Given the description of an element on the screen output the (x, y) to click on. 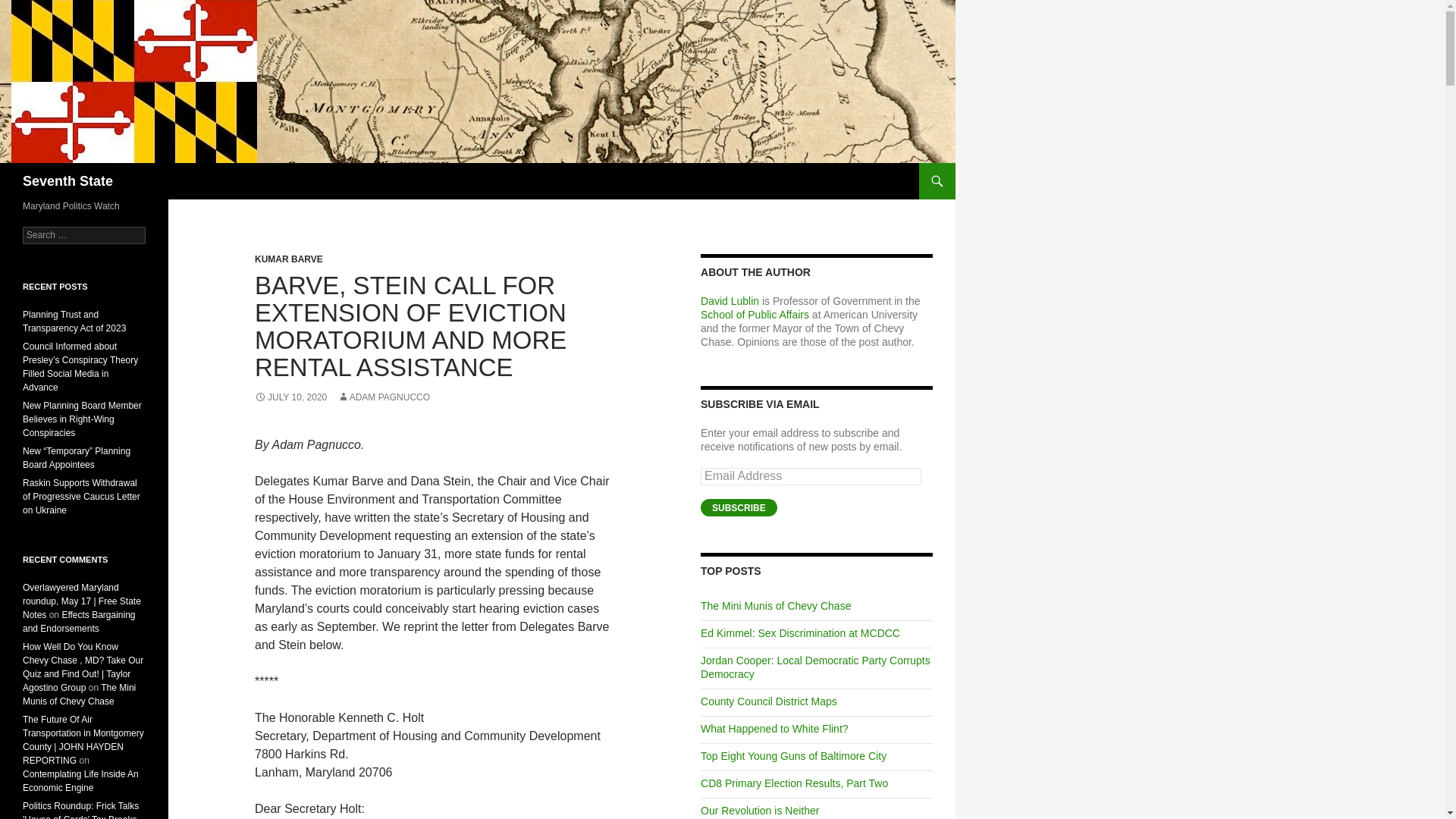
Our Revolution is Neither (759, 810)
David Lublin (729, 300)
Seventh State (68, 180)
ADAM PAGNUCCO (383, 397)
Jordan Cooper: Local Democratic Party Corrupts Democracy (815, 667)
Ed Kimmel: Sex Discrimination at MCDCC (799, 633)
CD8 Primary Election Results, Part Two (794, 783)
JULY 10, 2020 (290, 397)
What Happened to White Flint? (774, 728)
Top Eight Young Guns of Baltimore City (793, 756)
County Council District Maps (768, 701)
The Mini Munis of Chevy Chase (775, 605)
School of Public Affairs (754, 314)
SUBSCRIBE (738, 507)
